Given the description of an element on the screen output the (x, y) to click on. 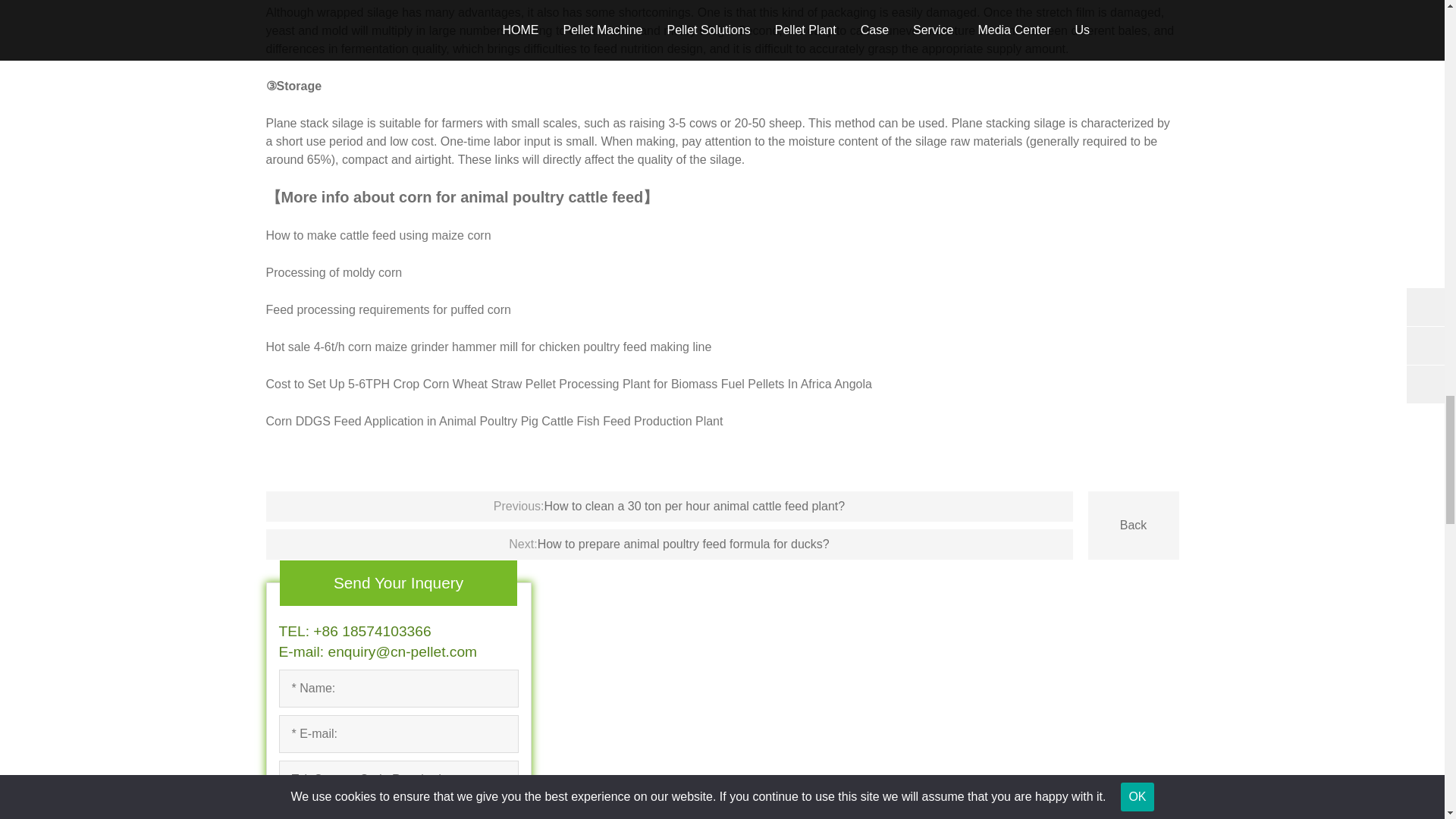
Please fill in the correct phone format (398, 779)
